Given the description of an element on the screen output the (x, y) to click on. 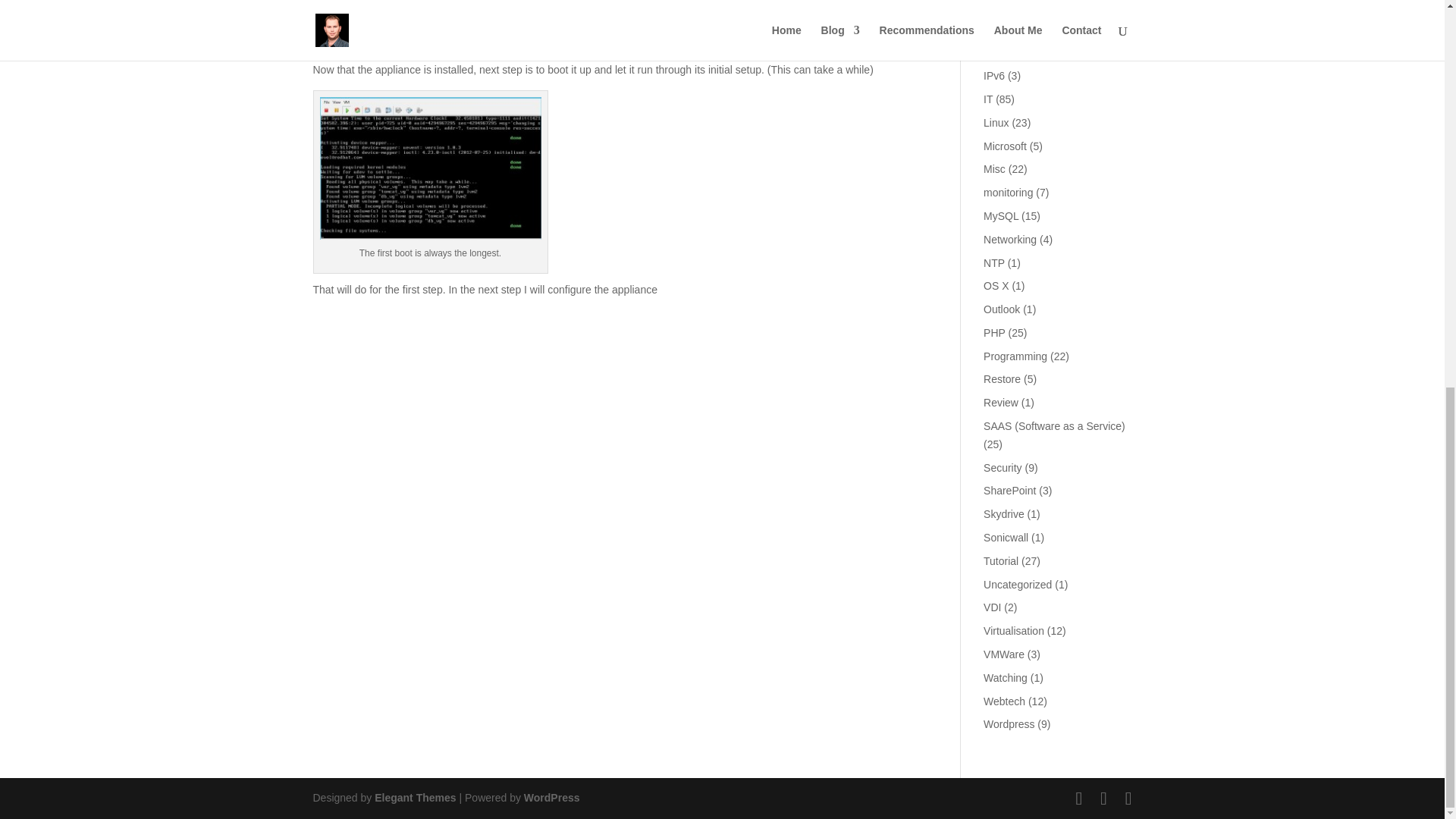
Hacking (1003, 6)
Home Media (1013, 29)
Premium WordPress Themes (414, 797)
